Given the description of an element on the screen output the (x, y) to click on. 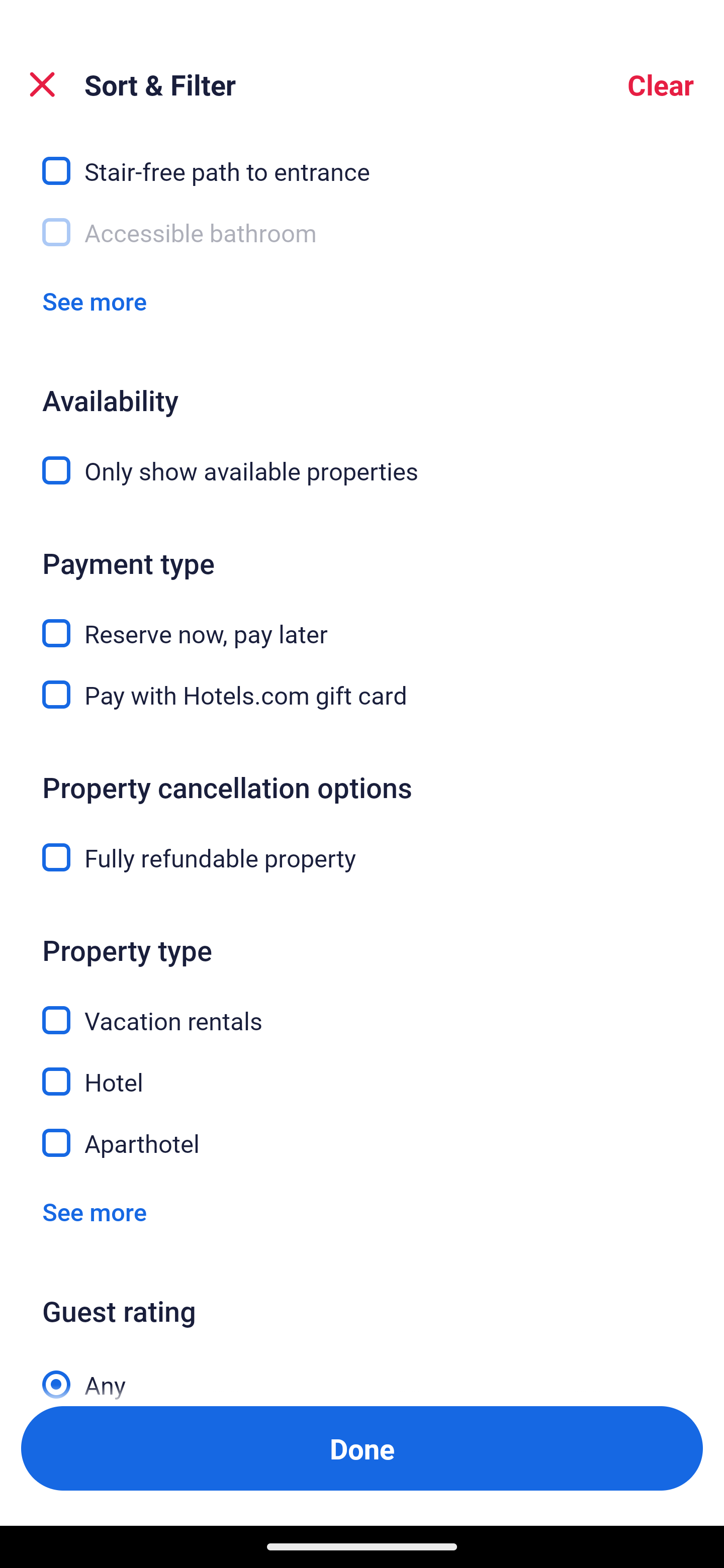
Close Sort and Filter (42, 84)
Clear (660, 84)
Accessible bathroom, Accessible bathroom (361, 231)
See more See more accessibility options Link (93, 300)
Reserve now, pay later, Reserve now, pay later (361, 621)
Vacation rentals, Vacation rentals (361, 1008)
Hotel, Hotel (361, 1069)
Aparthotel, Aparthotel (361, 1142)
See more See more property types Link (93, 1211)
Apply and close Sort and Filter Done (361, 1448)
